Given the description of an element on the screen output the (x, y) to click on. 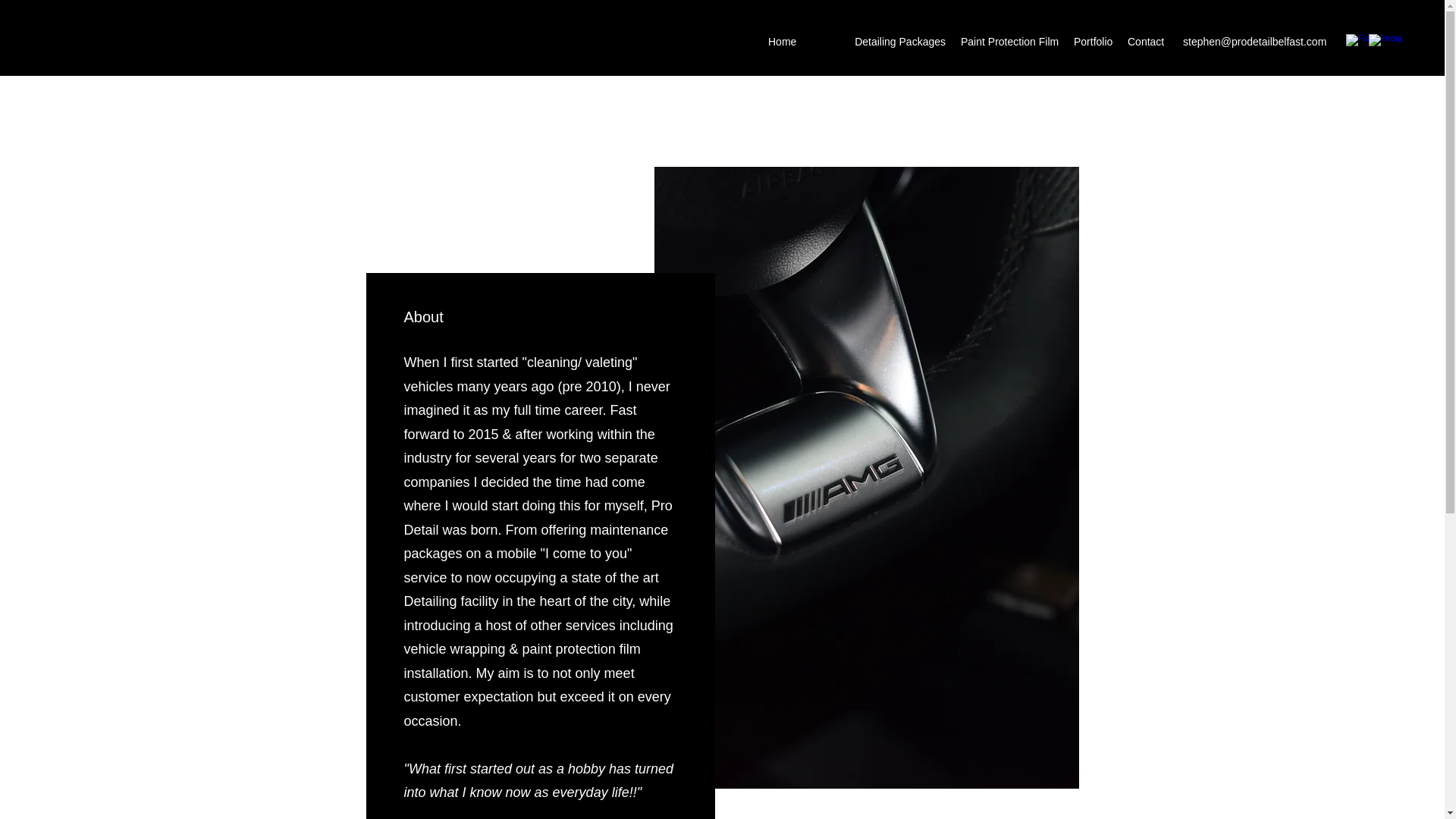
Detailing Packages (900, 41)
Paint Protection Film (1009, 41)
Contact (1145, 41)
Home (781, 41)
About (825, 41)
Portfolio (1092, 41)
